Given the description of an element on the screen output the (x, y) to click on. 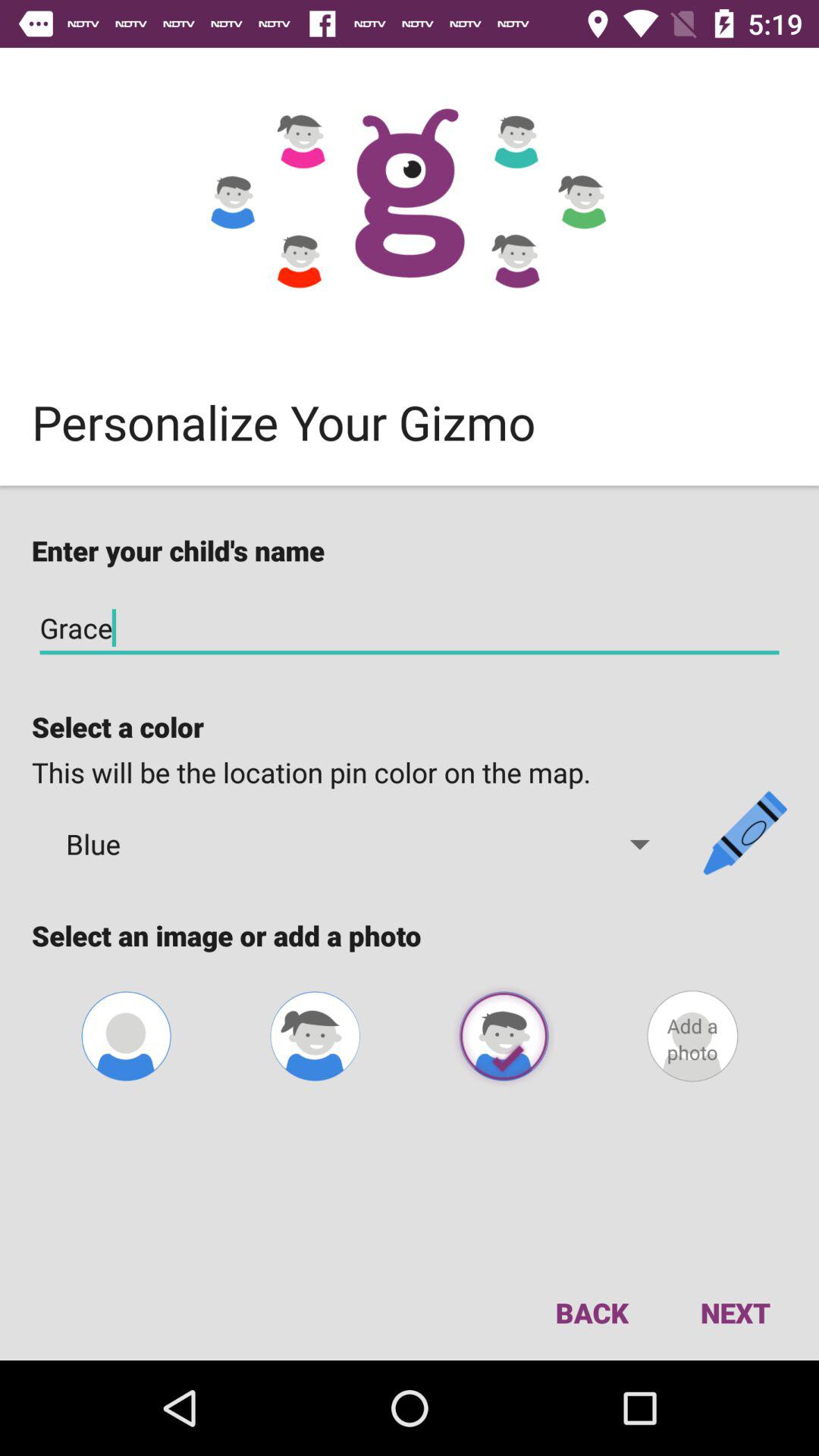
add the female photo (314, 1036)
